Given the description of an element on the screen output the (x, y) to click on. 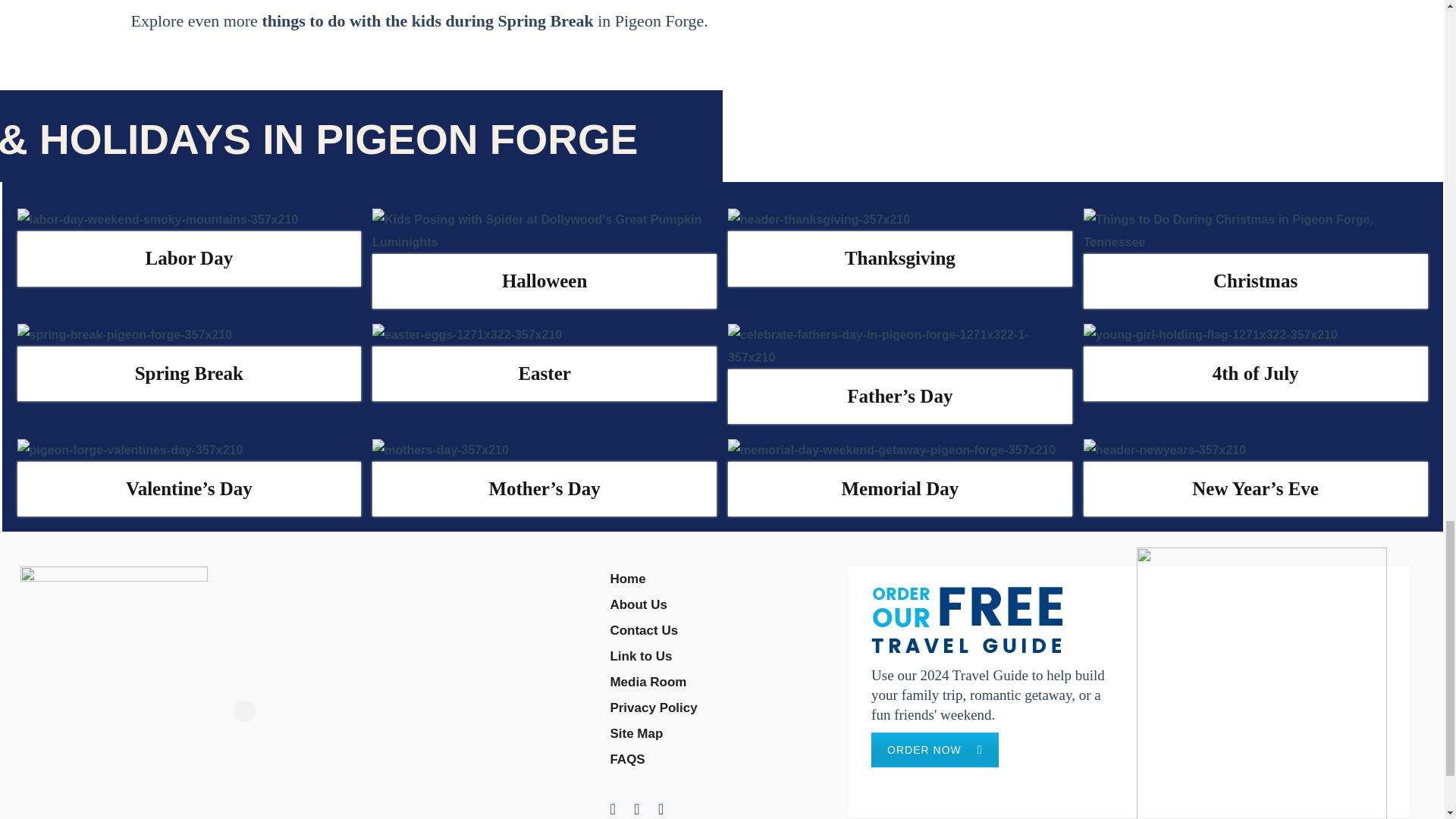
easter-eggs-1271x322-357x210 (467, 334)
spring-break-pigeon-forge-357x210 (123, 334)
celebrate-fathers-day-in-pigeon-forge-1271x322-1-357x210 (899, 345)
mothers-day-357x210 (440, 449)
memorial-day-weekend-getaway-pigeon-forge-357x210 (891, 449)
Things to Do for Halloween in Pigeon Forge (544, 230)
young-girl-holding-flag-1271x322-357x210 (1210, 334)
pigeon-forge-valentines-day-357x210 (129, 449)
header-thanksgiving-357x210 (819, 219)
Things to Do During Christmas in Pigeon Forge, Tennessee (1255, 230)
